Given the description of an element on the screen output the (x, y) to click on. 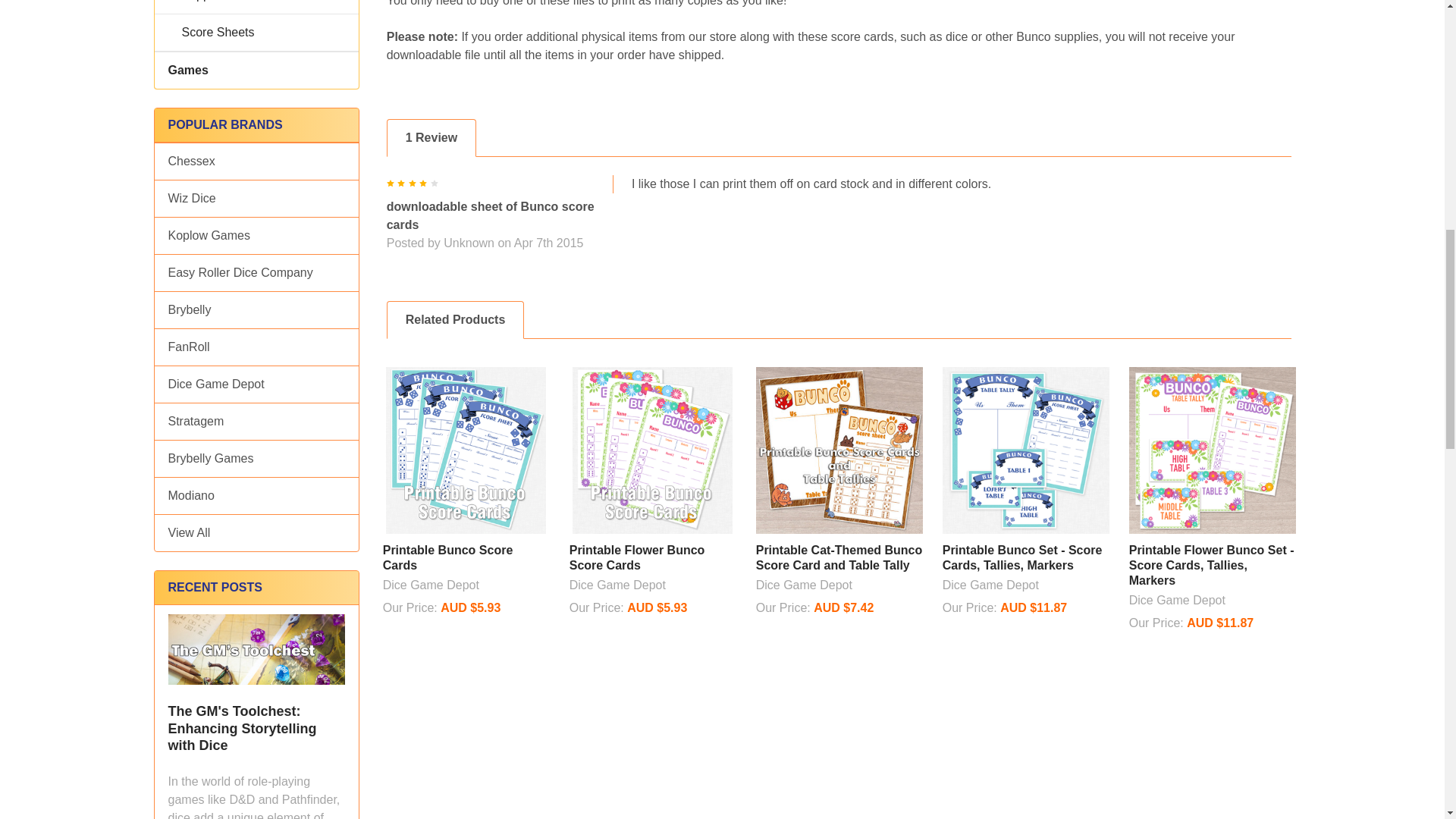
Stratagem (256, 421)
Easy Roller Dice Company (256, 272)
Dice Game Depot (256, 384)
Brybelly Games (256, 458)
Koplow Games (256, 235)
Chessex (256, 161)
FanRoll (256, 347)
Modiano (256, 495)
The GM's Toolchest: Enhancing Storytelling with Dice (256, 649)
Brybelly (256, 310)
Wiz Dice (256, 198)
